Given the description of an element on the screen output the (x, y) to click on. 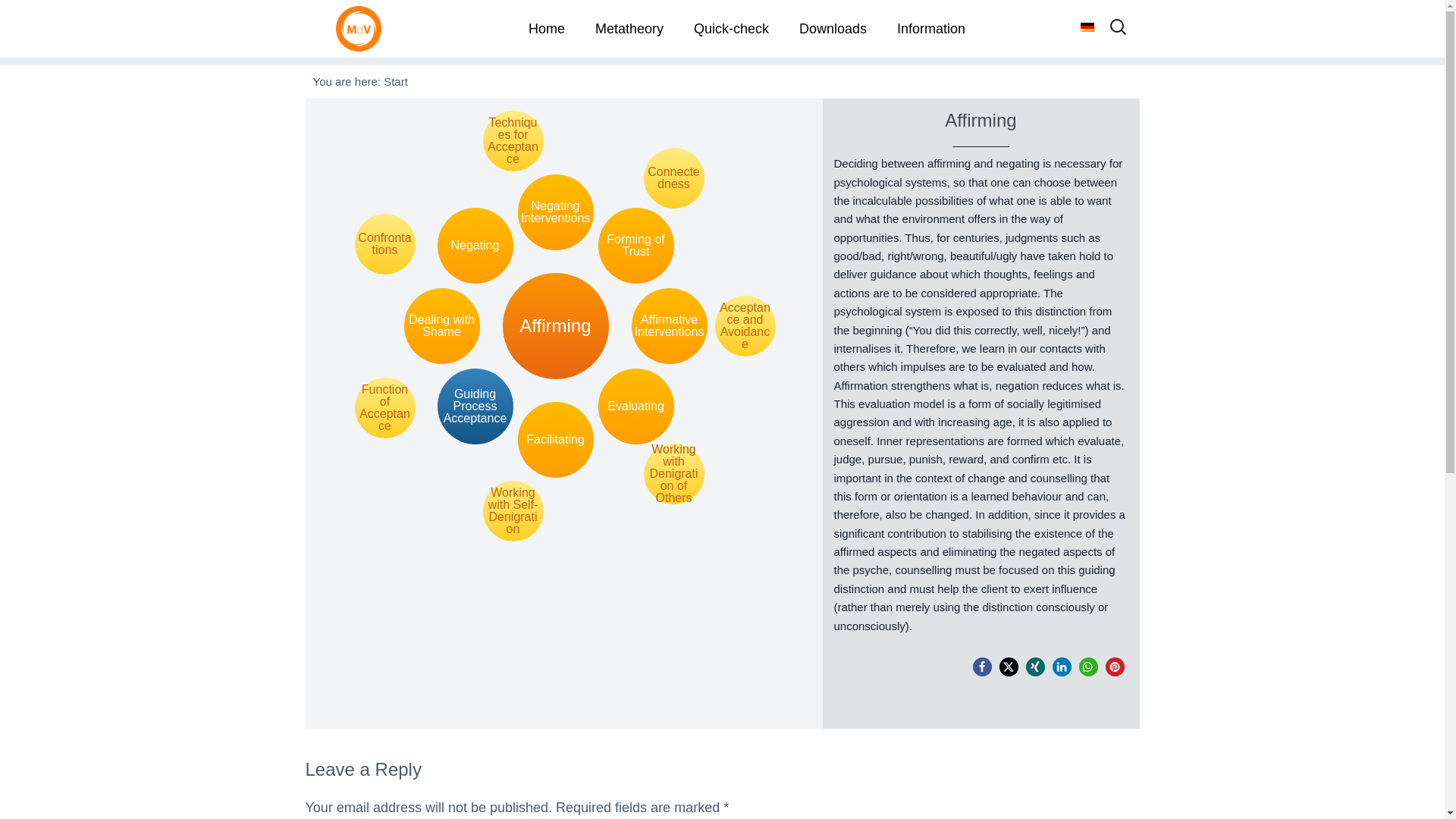
Guiding Process Acceptance (474, 406)
Acceptance and Avoidance (744, 325)
Evaluating (634, 406)
Downloads (833, 28)
Working with Self-Denigration (512, 510)
Affirmative Interventions (668, 325)
Facilitating (554, 439)
Techniques for Acceptance (512, 140)
Function of Acceptance (384, 407)
Home (546, 28)
Dealing with Shame (441, 325)
Metatheory (628, 28)
Information (930, 28)
